Given the description of an element on the screen output the (x, y) to click on. 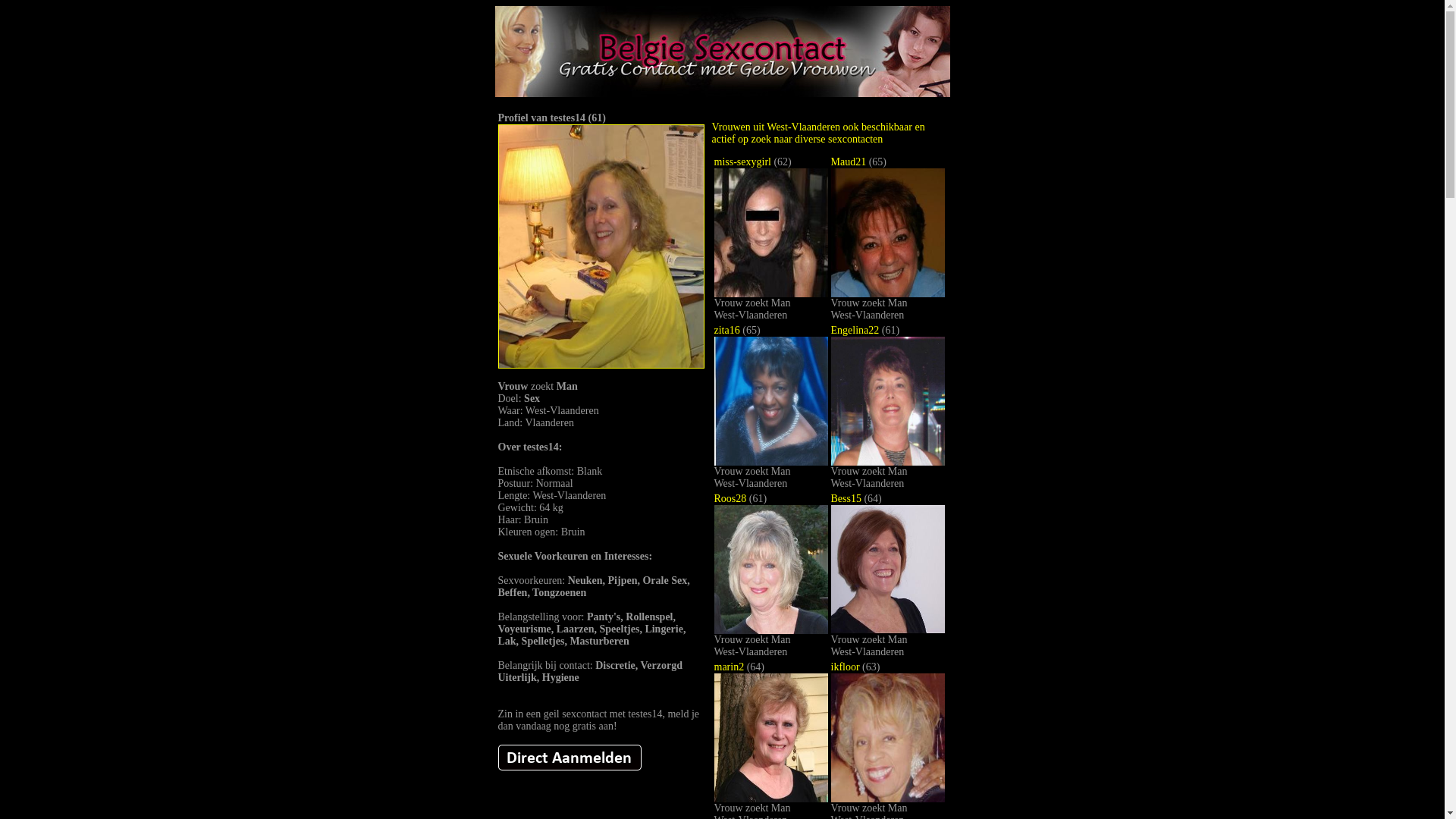
Engelina22 Element type: text (855, 329)
ikfloor Element type: text (845, 666)
miss-sexygirl Element type: text (742, 161)
Bess15 Element type: text (846, 498)
marin2 Element type: text (729, 666)
zita16 Element type: text (727, 329)
 jarige meid wilt sex in  Element type: hover (568, 766)
Roos28 Element type: text (730, 498)
Maud21 Element type: text (848, 161)
